Given the description of an element on the screen output the (x, y) to click on. 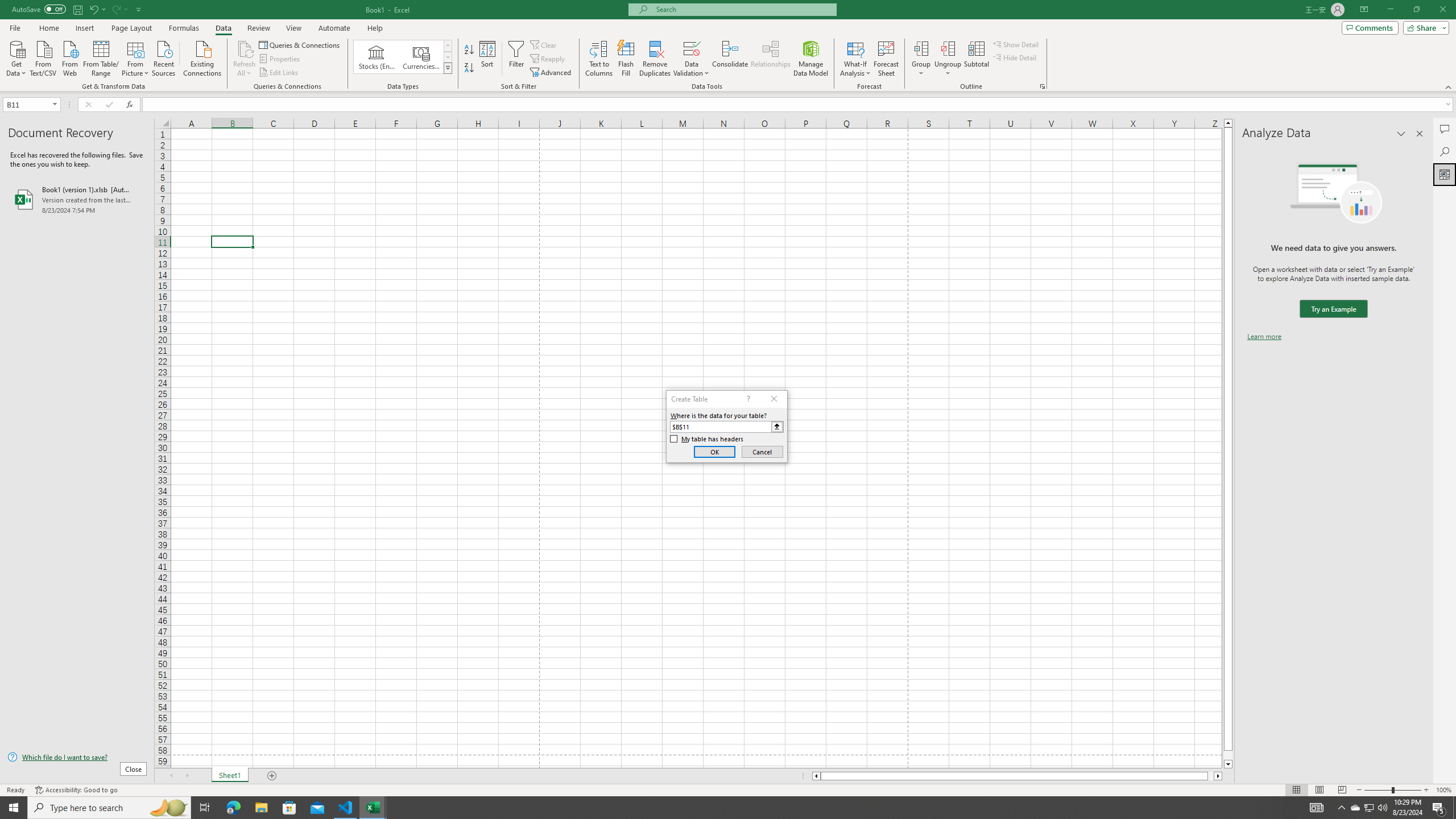
Learn more (1264, 336)
Relationships (770, 58)
